Given the description of an element on the screen output the (x, y) to click on. 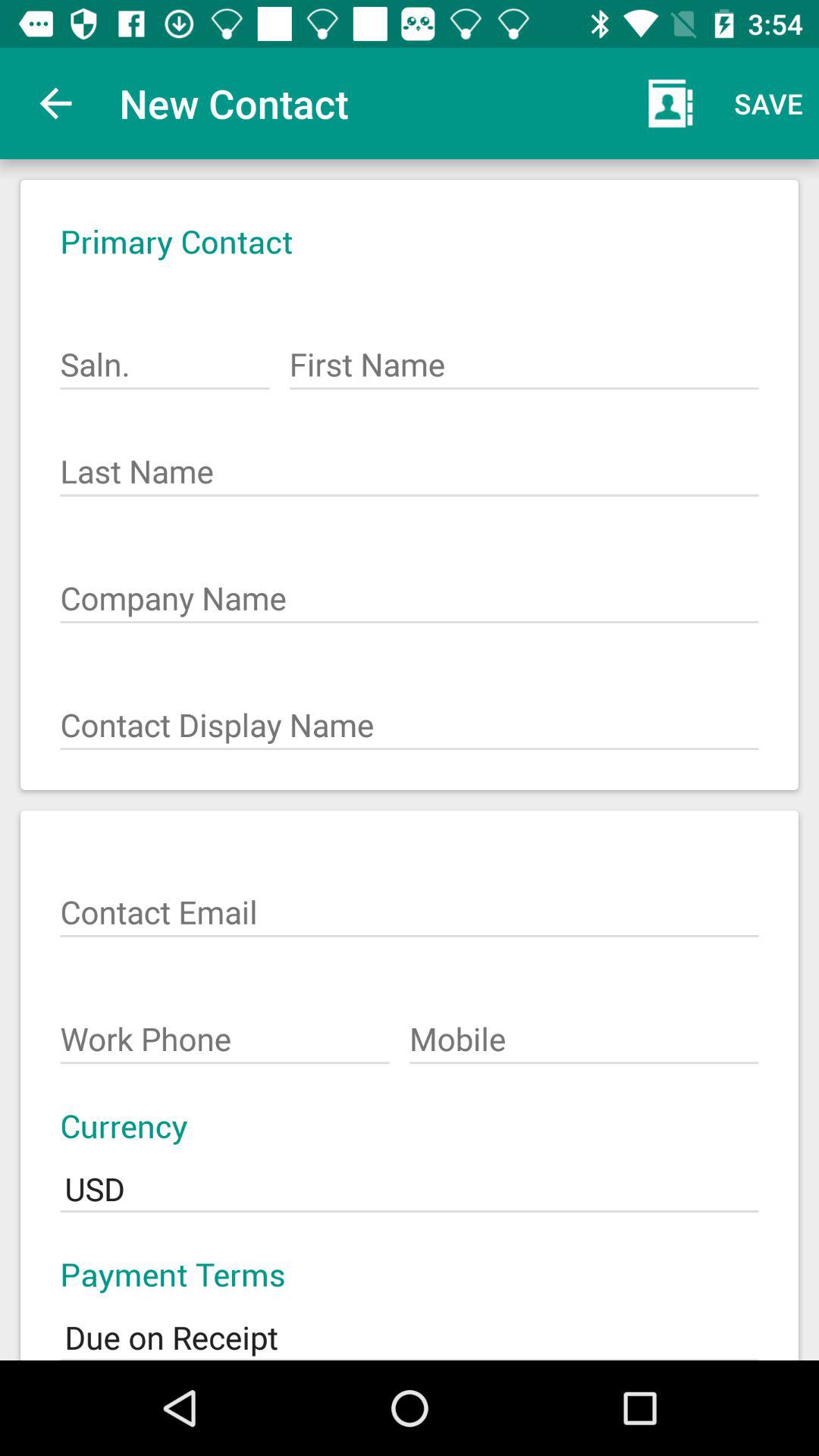
select work phone (224, 1031)
select a text field with text mobile on a page (584, 1031)
click on the text box which says contact email (409, 904)
go to usd (409, 1178)
select the text field on the second line of the screen last name (409, 463)
